Given the description of an element on the screen output the (x, y) to click on. 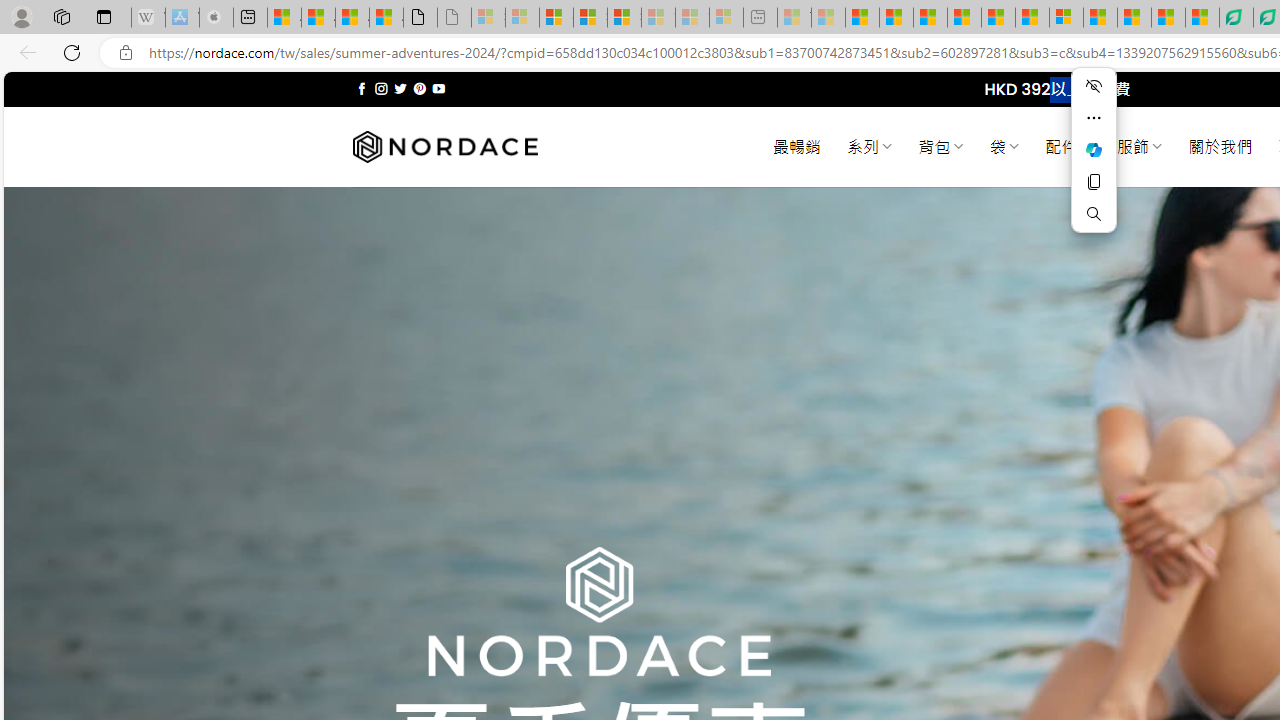
Follow on Facebook (361, 88)
Mini menu on text selection (1094, 161)
LendingTree - Compare Lenders (1236, 17)
Foo BAR | Trusted Community Engagement and Contributions (1032, 17)
Hide menu (1094, 85)
New tab - Sleeping (759, 17)
Top Stories - MSN - Sleeping (794, 17)
More actions (1094, 117)
